Given the description of an element on the screen output the (x, y) to click on. 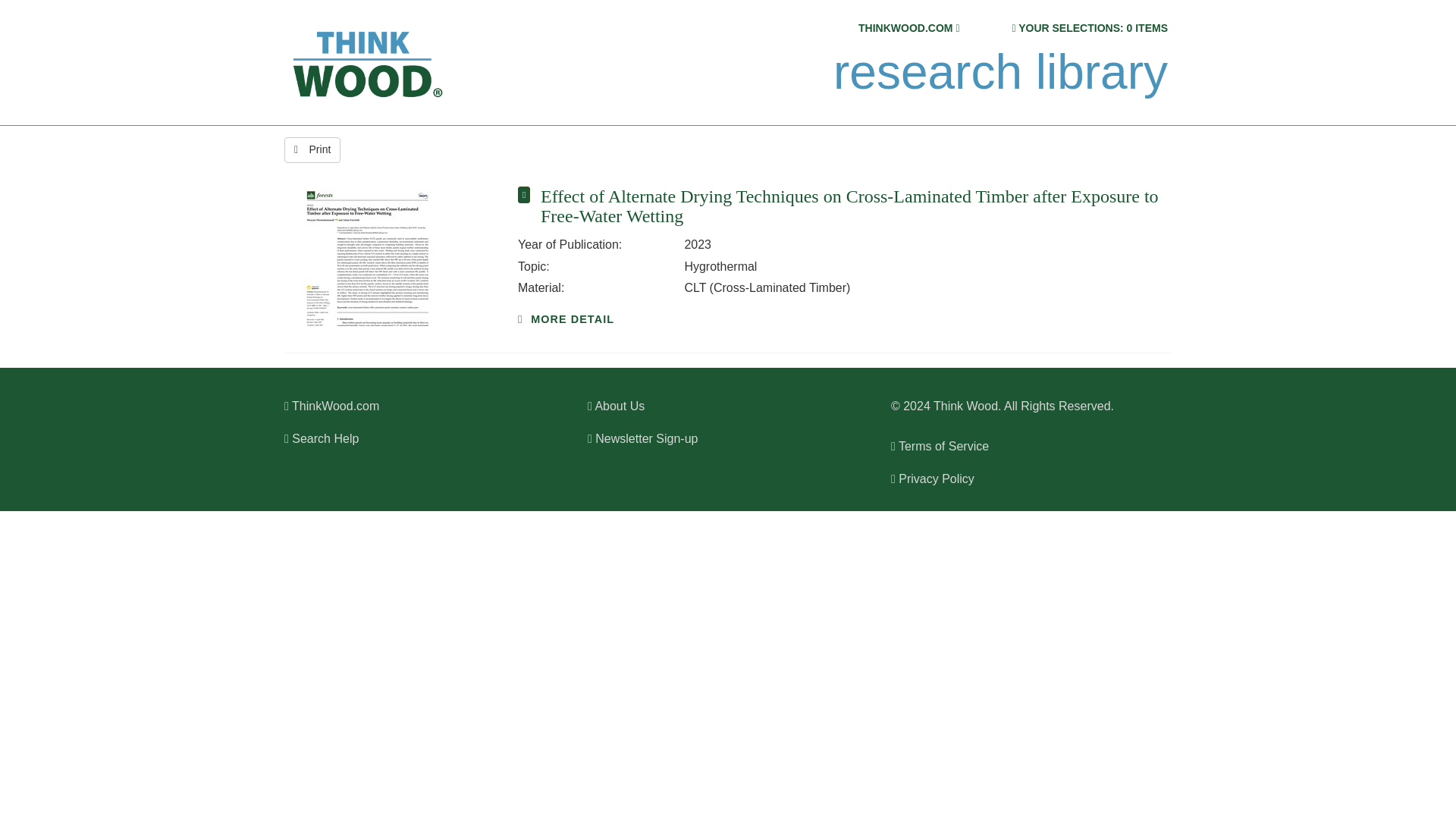
 Search Help (320, 438)
 Newsletter Sign-up (642, 438)
 ThinkWood.com (330, 405)
THINKWOOD.COM (905, 28)
research library (999, 72)
 Terms of Service (939, 445)
YOUR SELECTIONS: 0 ITEMS (1092, 28)
Toggle Full Record (849, 206)
 Privacy Policy (932, 478)
MORE DETAIL (566, 318)
Print (311, 149)
 About Us (616, 405)
